Given the description of an element on the screen output the (x, y) to click on. 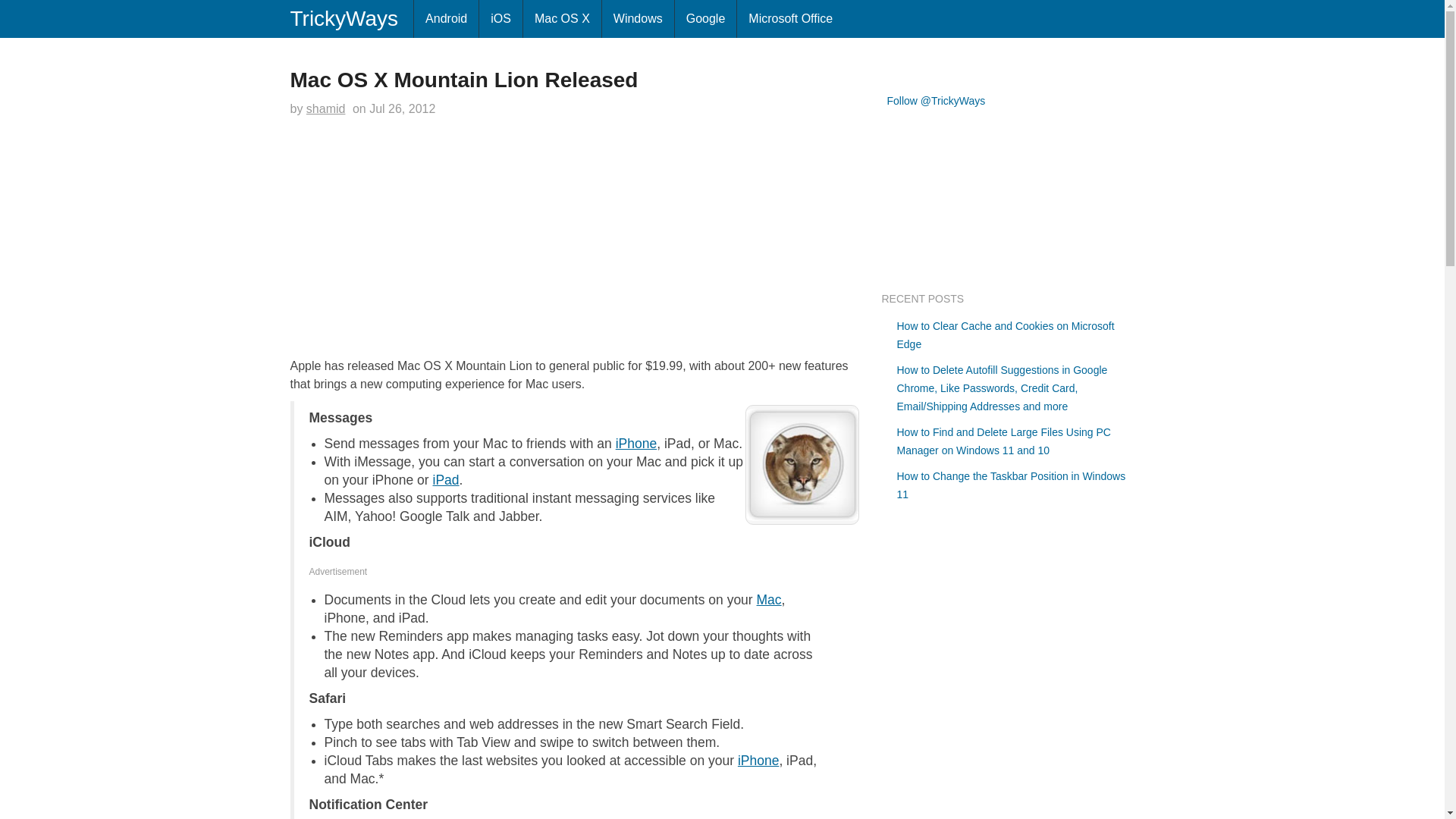
iPad (446, 479)
Mac (769, 599)
Google (705, 18)
TrickyWays (346, 18)
Windows (638, 18)
iOS (500, 18)
Microsoft Office (790, 18)
Android (446, 18)
shamid (325, 108)
TrickyWays.com (346, 18)
How to Clear Cache and Cookies on Microsoft Edge (1004, 335)
iPhone (636, 443)
How to Change the Taskbar Position in Windows 11 (1010, 485)
iPhone (758, 760)
